Given the description of an element on the screen output the (x, y) to click on. 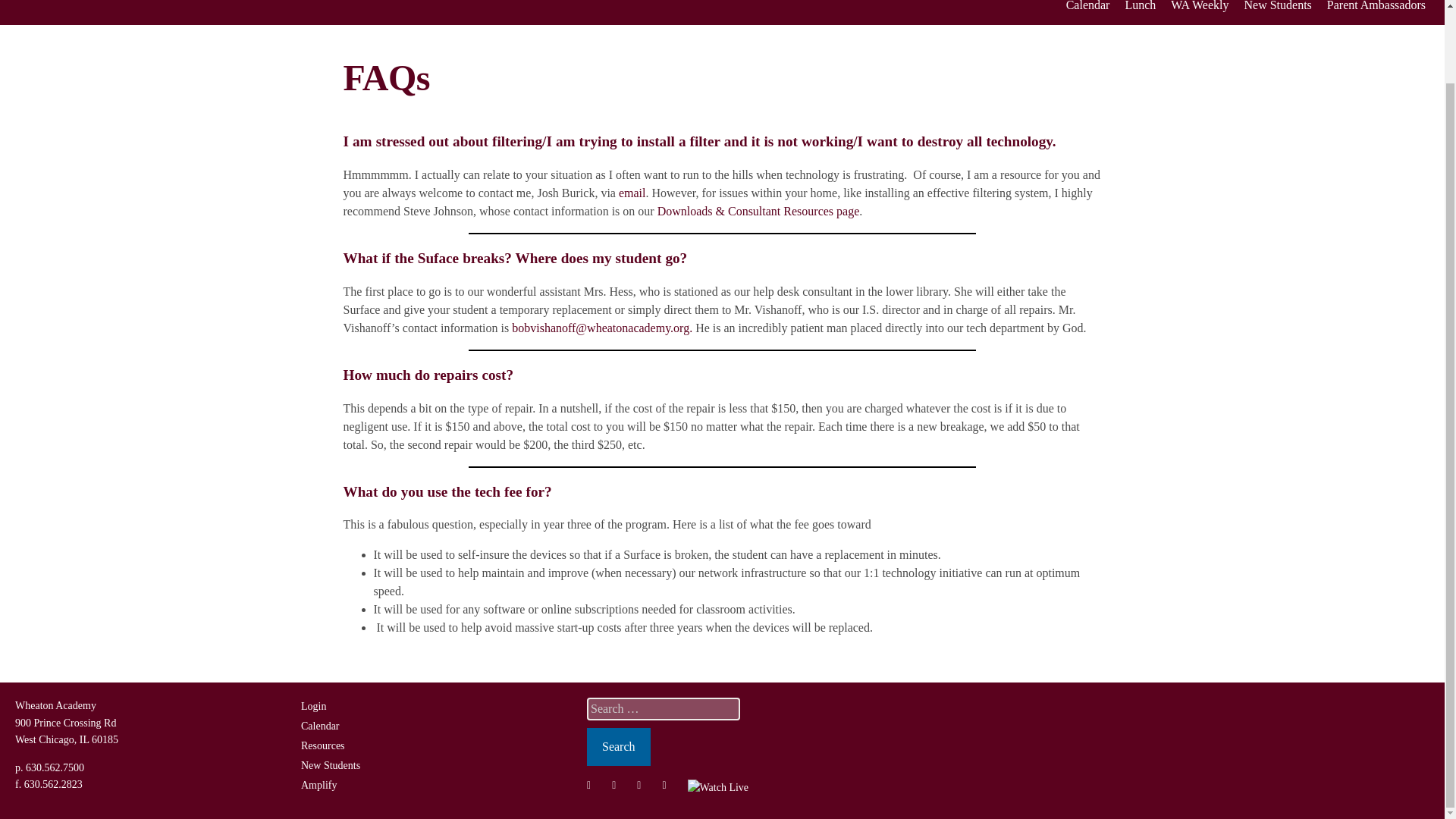
WA Weekly (1199, 7)
Parent Ambassadors (1375, 7)
Search (618, 746)
New Students (330, 765)
Search (618, 746)
Calendar (320, 726)
Calendar (1087, 7)
email (632, 192)
Search (618, 746)
Login (313, 706)
